Given the description of an element on the screen output the (x, y) to click on. 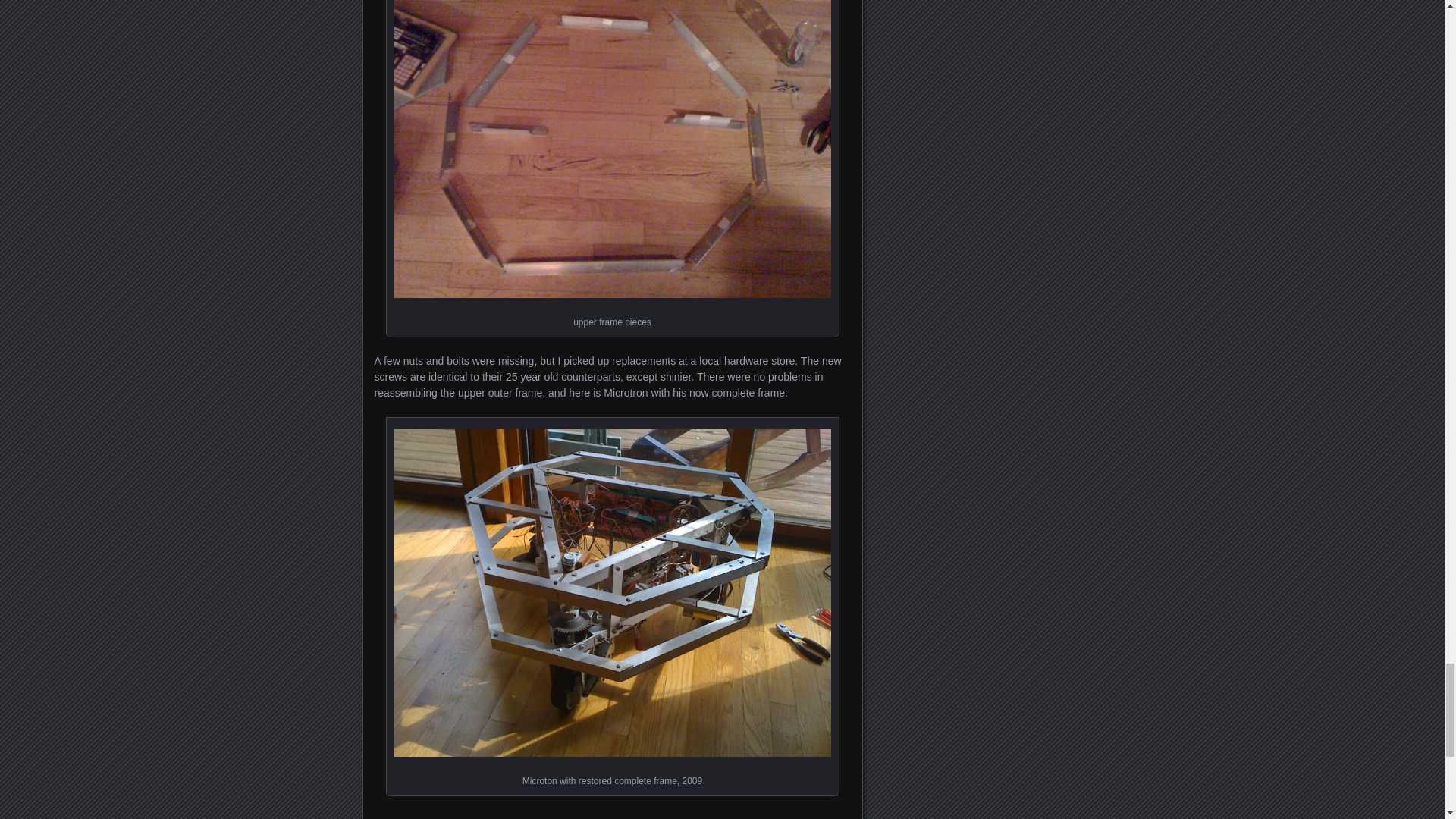
upper frame pieces (612, 149)
